Given the description of an element on the screen output the (x, y) to click on. 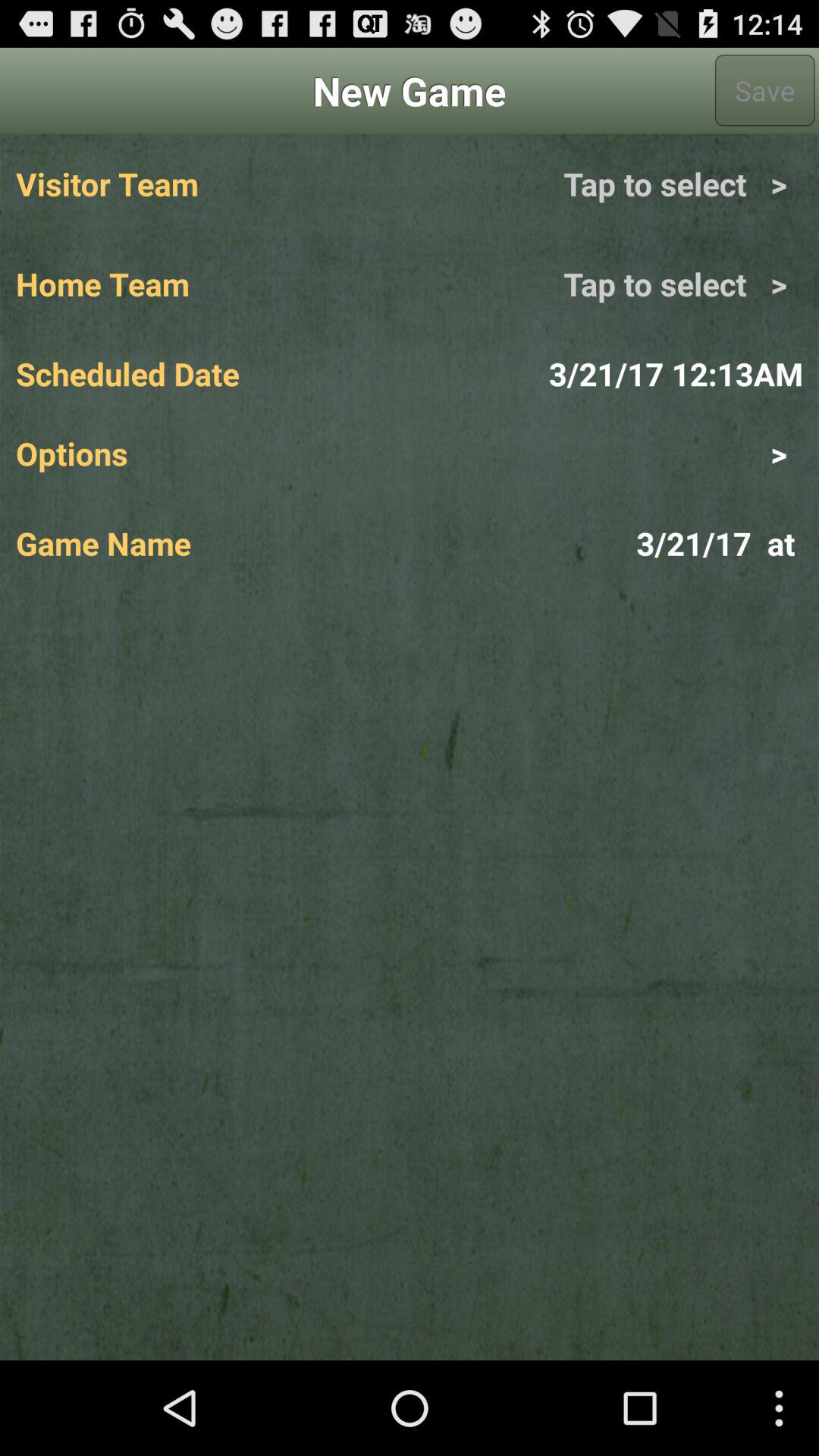
turn off item above game name app (606, 452)
